Given the description of an element on the screen output the (x, y) to click on. 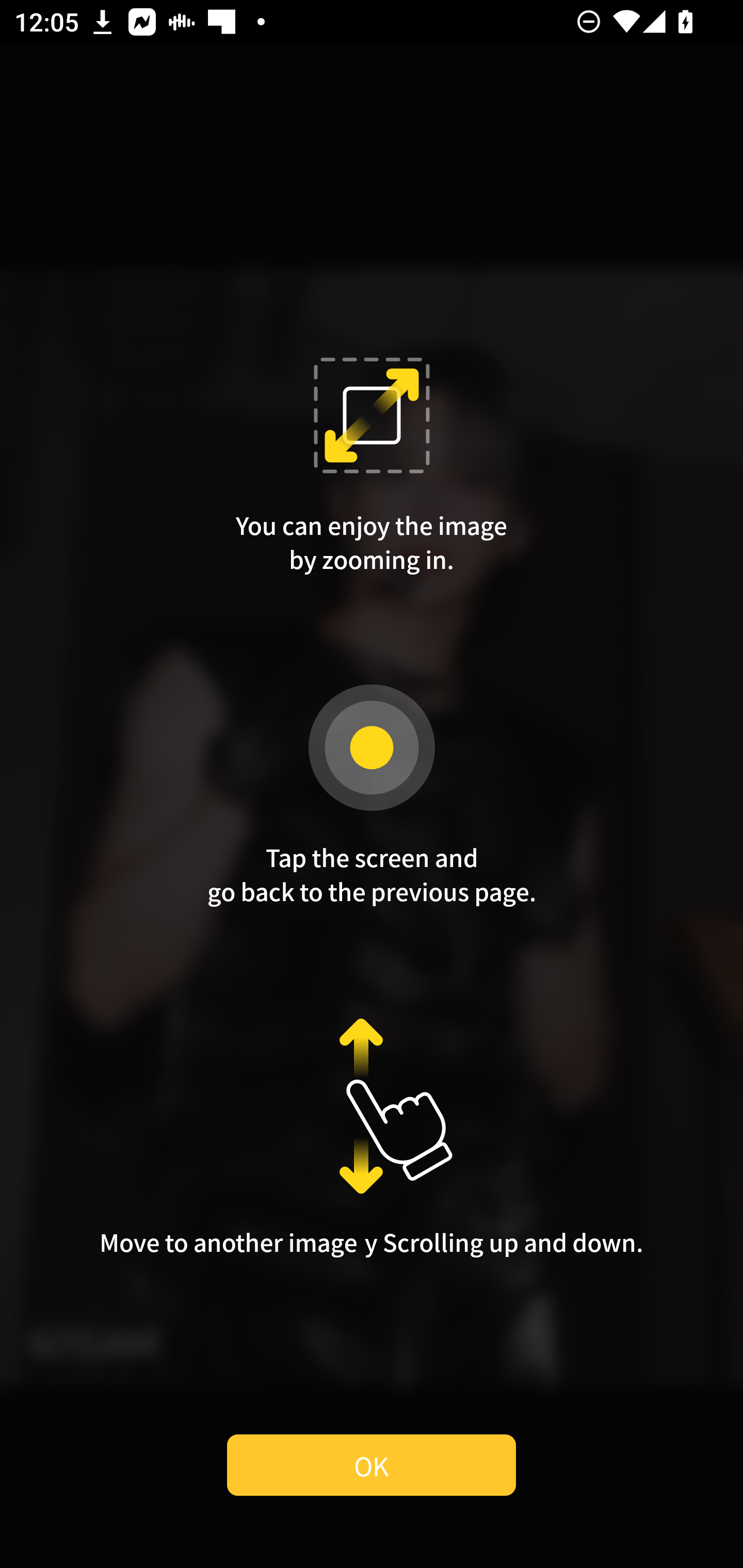
OK (371, 1464)
